Given the description of an element on the screen output the (x, y) to click on. 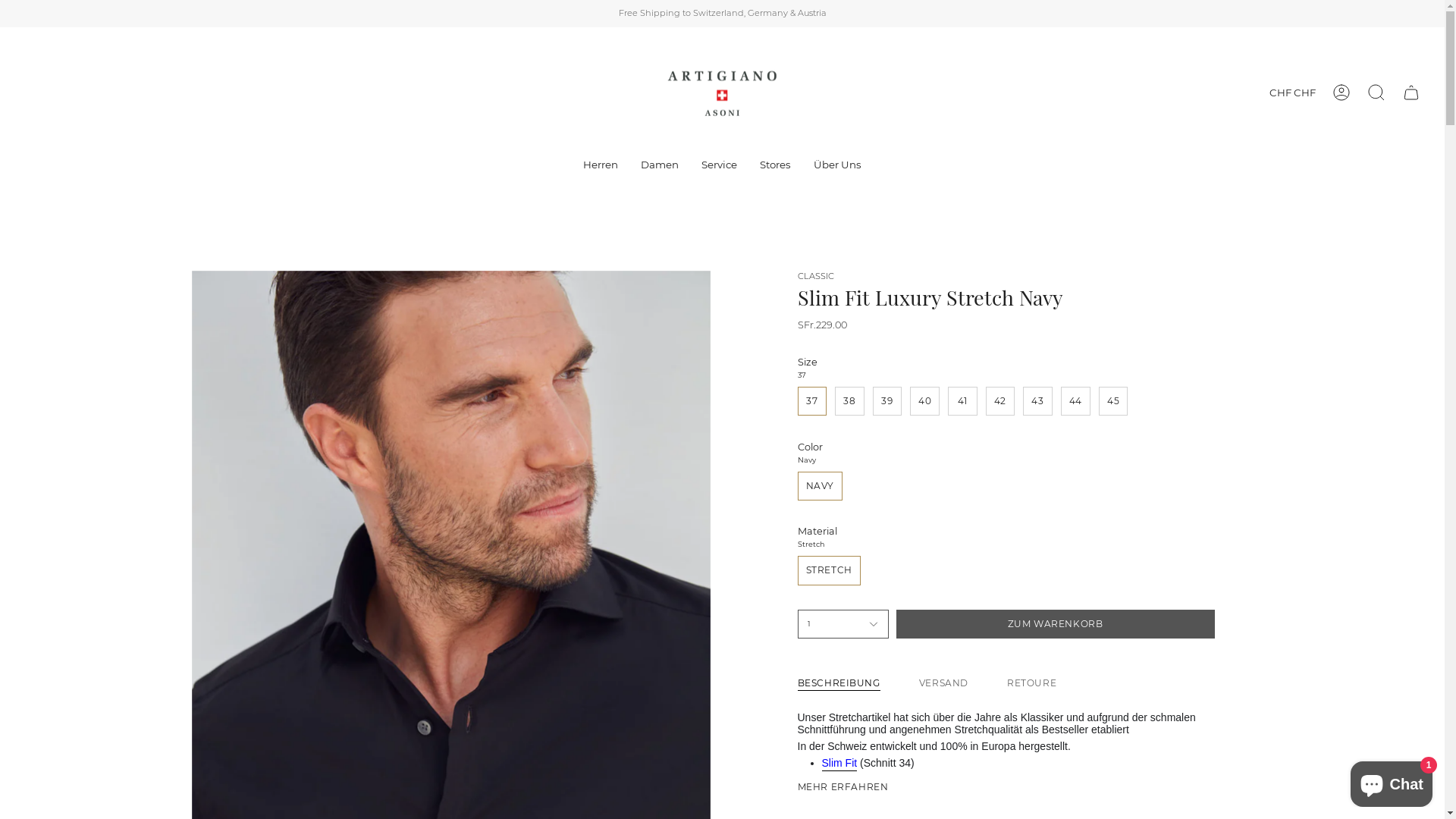
Konto Element type: text (1341, 92)
Herren Element type: text (600, 164)
Warenkorb Element type: text (1410, 92)
Slim Fit Element type: text (839, 764)
Damen Element type: text (659, 164)
MEHR ERFAHREN Element type: text (842, 786)
ZUM WARENKORB Element type: text (1055, 624)
Service Element type: text (719, 164)
1 Element type: text (842, 624)
Stores Element type: text (775, 164)
CLASSIC Element type: text (815, 275)
Onlineshop-Chat von Shopify Element type: hover (1391, 780)
CHF CHF Element type: text (1292, 92)
